Given the description of an element on the screen output the (x, y) to click on. 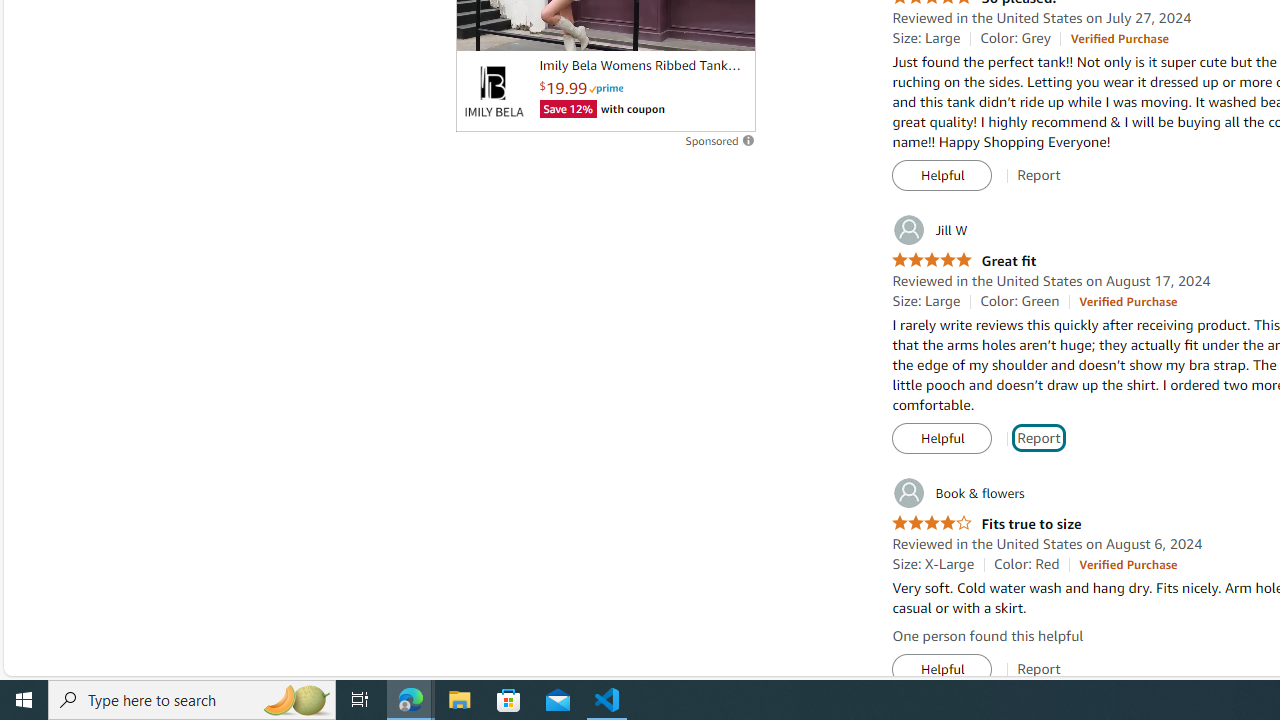
5.0 out of 5 stars Great fit (964, 260)
Unmute (729, 27)
Pause (481, 27)
Helpful (942, 669)
4.0 out of 5 stars Fits true to size (986, 524)
Logo (493, 91)
Jill W (929, 230)
Verified Purchase (1128, 564)
Book & flowers (958, 493)
Report (1039, 669)
Prime (605, 88)
